Given the description of an element on the screen output the (x, y) to click on. 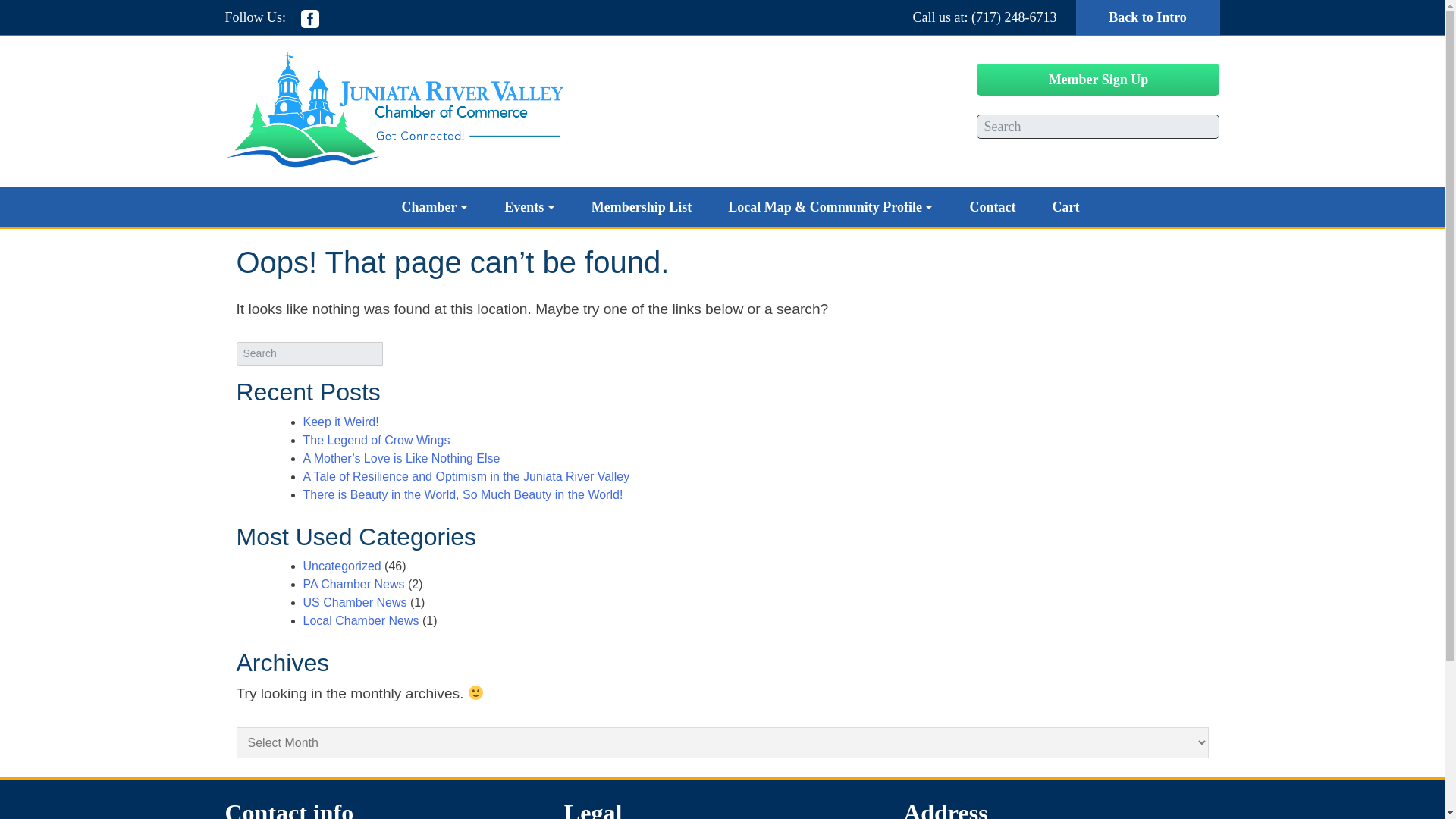
Membership List (641, 206)
Uncategorized (341, 565)
Contact (991, 206)
Member Sign Up (1098, 79)
Events (529, 206)
Cart (1065, 206)
Keep it Weird! (340, 421)
There is Beauty in the World, So Much Beauty in the World! (462, 494)
Chamber (435, 206)
Search (10, 5)
The Legend of Crow Wings (375, 440)
PA Chamber News (353, 584)
Back to Intro (1147, 17)
US Chamber News (354, 602)
